Given the description of an element on the screen output the (x, y) to click on. 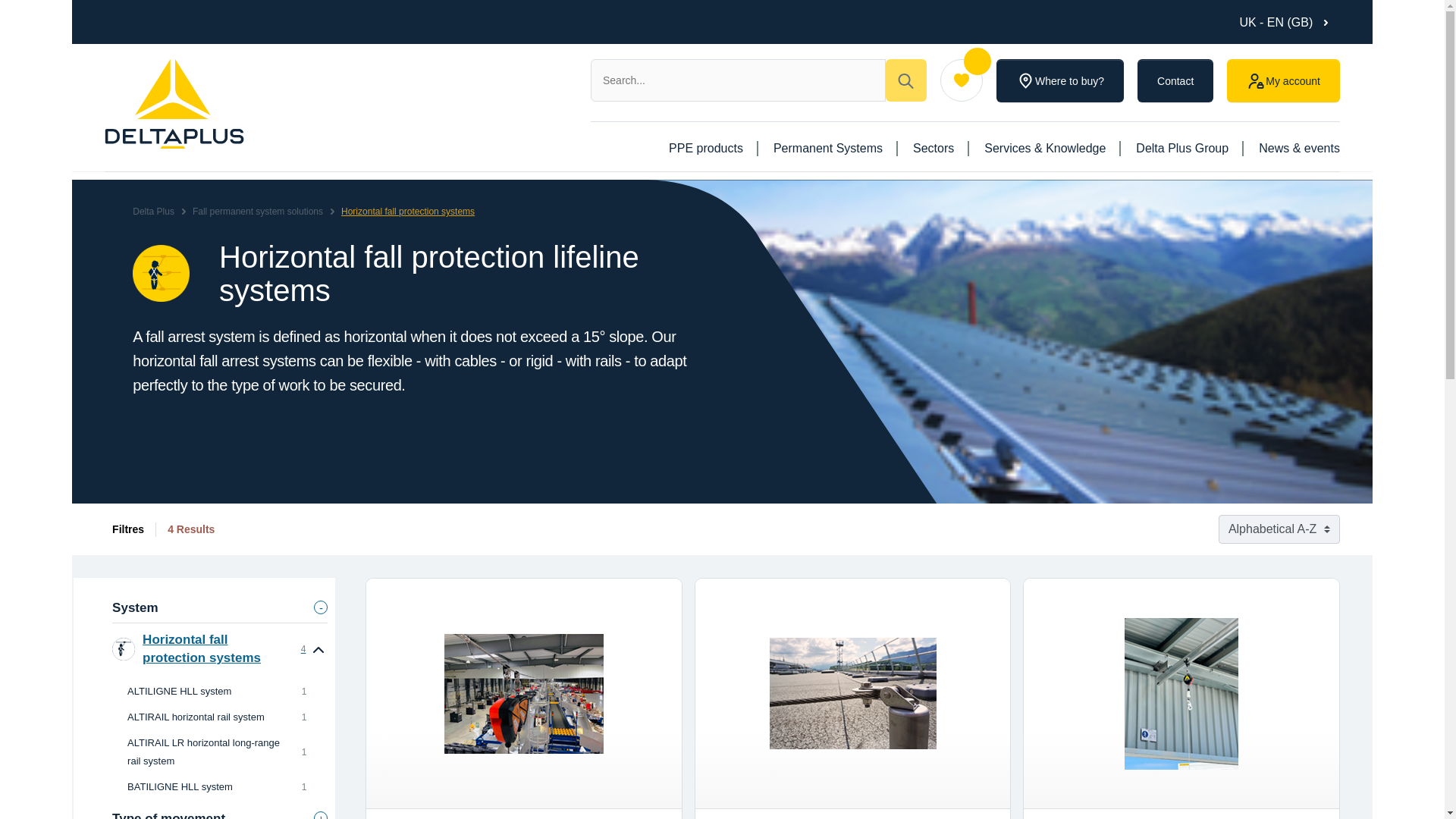
Search (738, 79)
Where to buy? (1059, 80)
Contact (1174, 80)
See my selection (961, 79)
Favourites (961, 79)
sort-selection (1278, 529)
Search (905, 79)
My account (1283, 80)
